Given the description of an element on the screen output the (x, y) to click on. 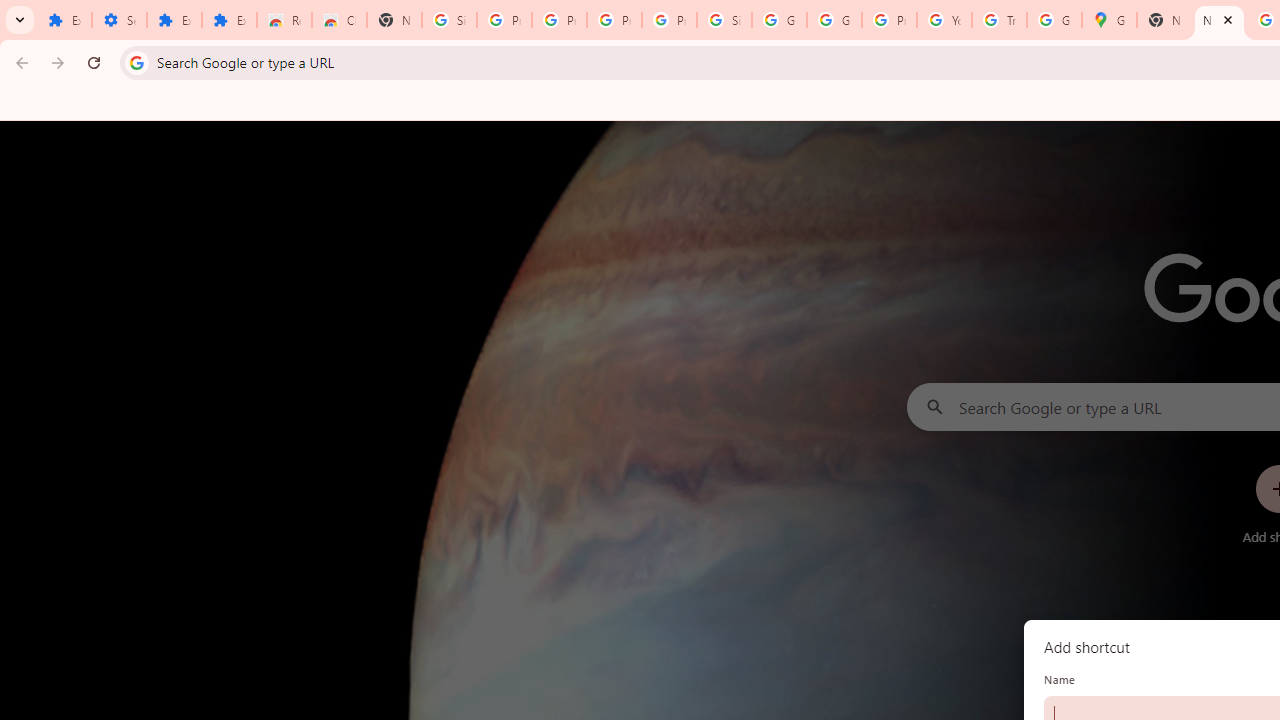
Extensions (229, 20)
Chrome Web Store - Themes (339, 20)
New Tab (1218, 20)
